Given the description of an element on the screen output the (x, y) to click on. 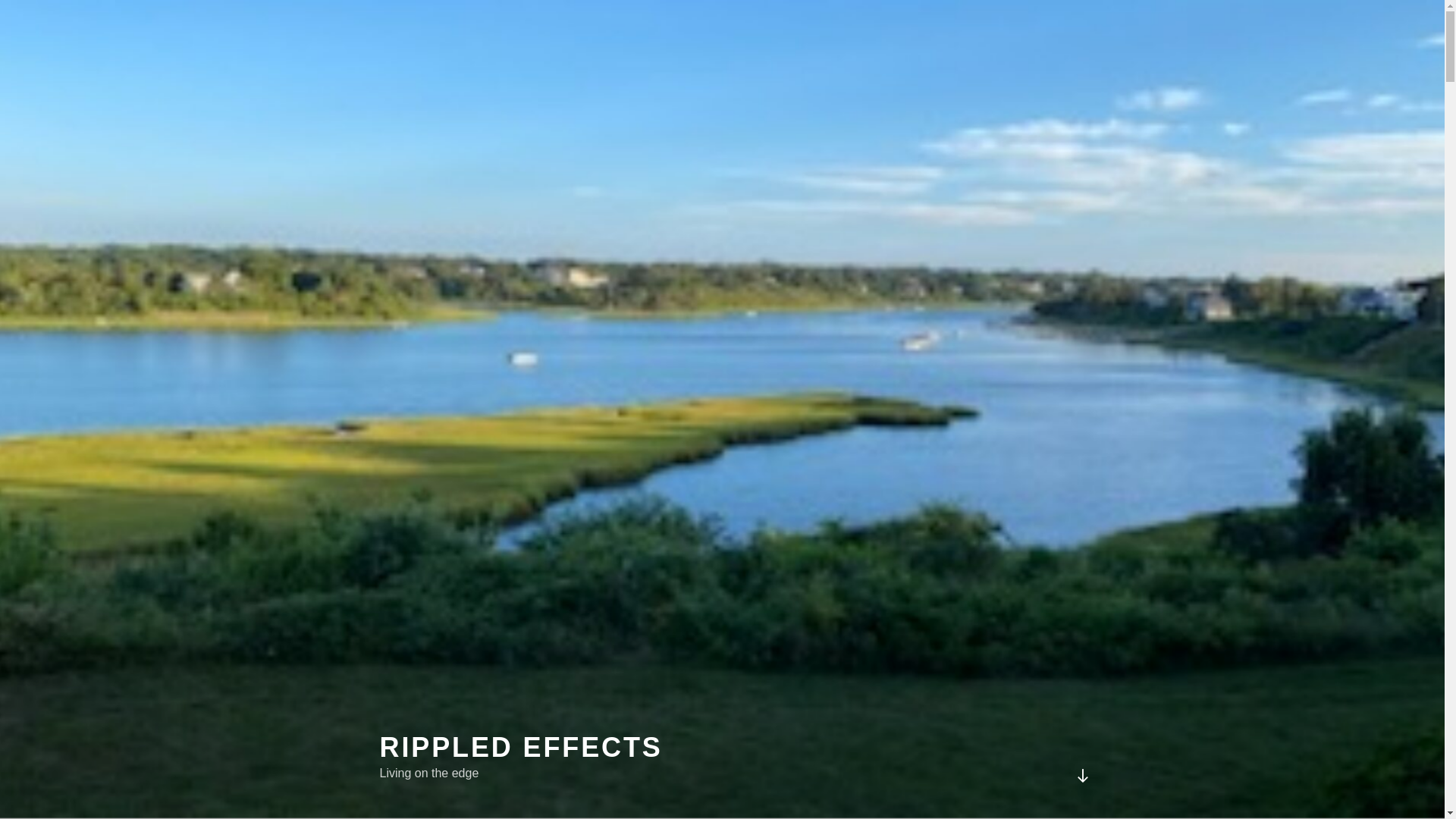
Scroll down to content (1081, 775)
Scroll down to content (1081, 775)
RIPPLED EFFECTS (520, 747)
